Given the description of an element on the screen output the (x, y) to click on. 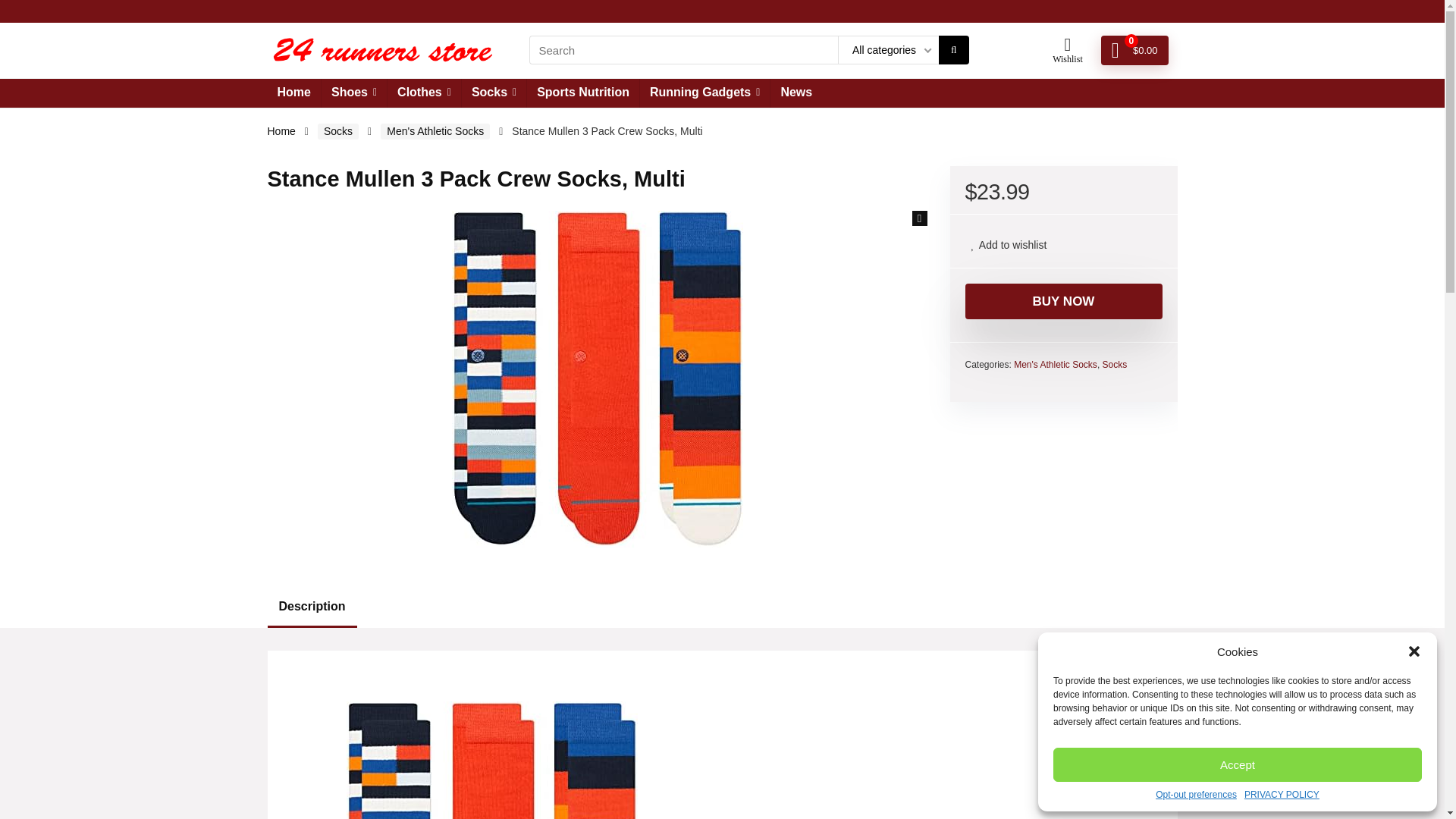
Home (293, 92)
Clothes (424, 92)
PRIVACY POLICY (1281, 794)
Opt-out preferences (1196, 794)
Running Gadgets (705, 92)
Sports Nutrition (583, 92)
Socks (493, 92)
Shoes (354, 92)
Accept (1237, 764)
Description (721, 606)
